Given the description of an element on the screen output the (x, y) to click on. 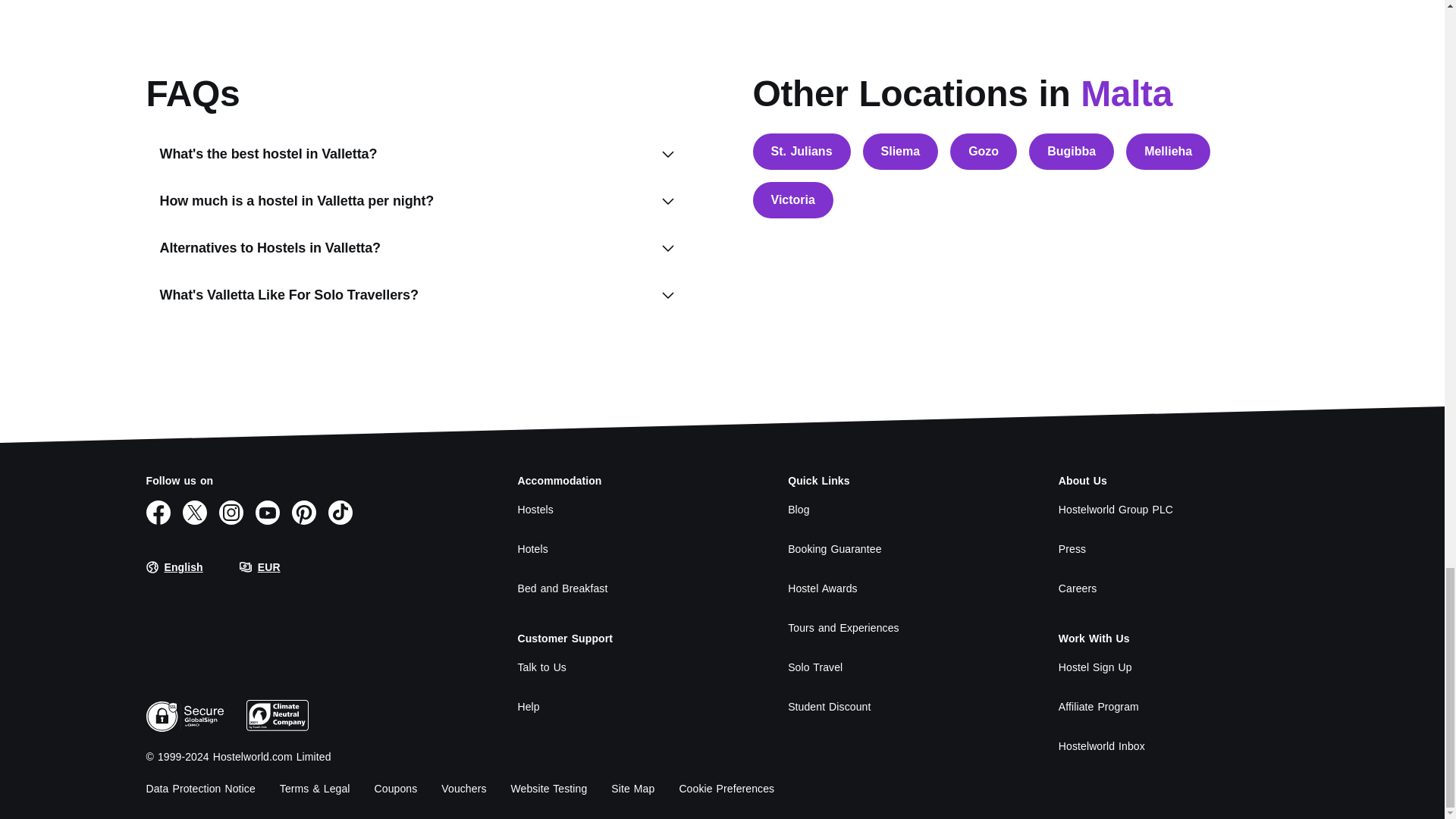
View all hostels in Gozo (983, 151)
Hostelworld Facebook (157, 512)
View all hostels in St. Julians (801, 151)
View all hostels in Mellieha (1167, 151)
View all hostels in Victoria (792, 199)
View all hostels in Bugibba (1071, 151)
View all hostels in Sliema (901, 151)
